Given the description of an element on the screen output the (x, y) to click on. 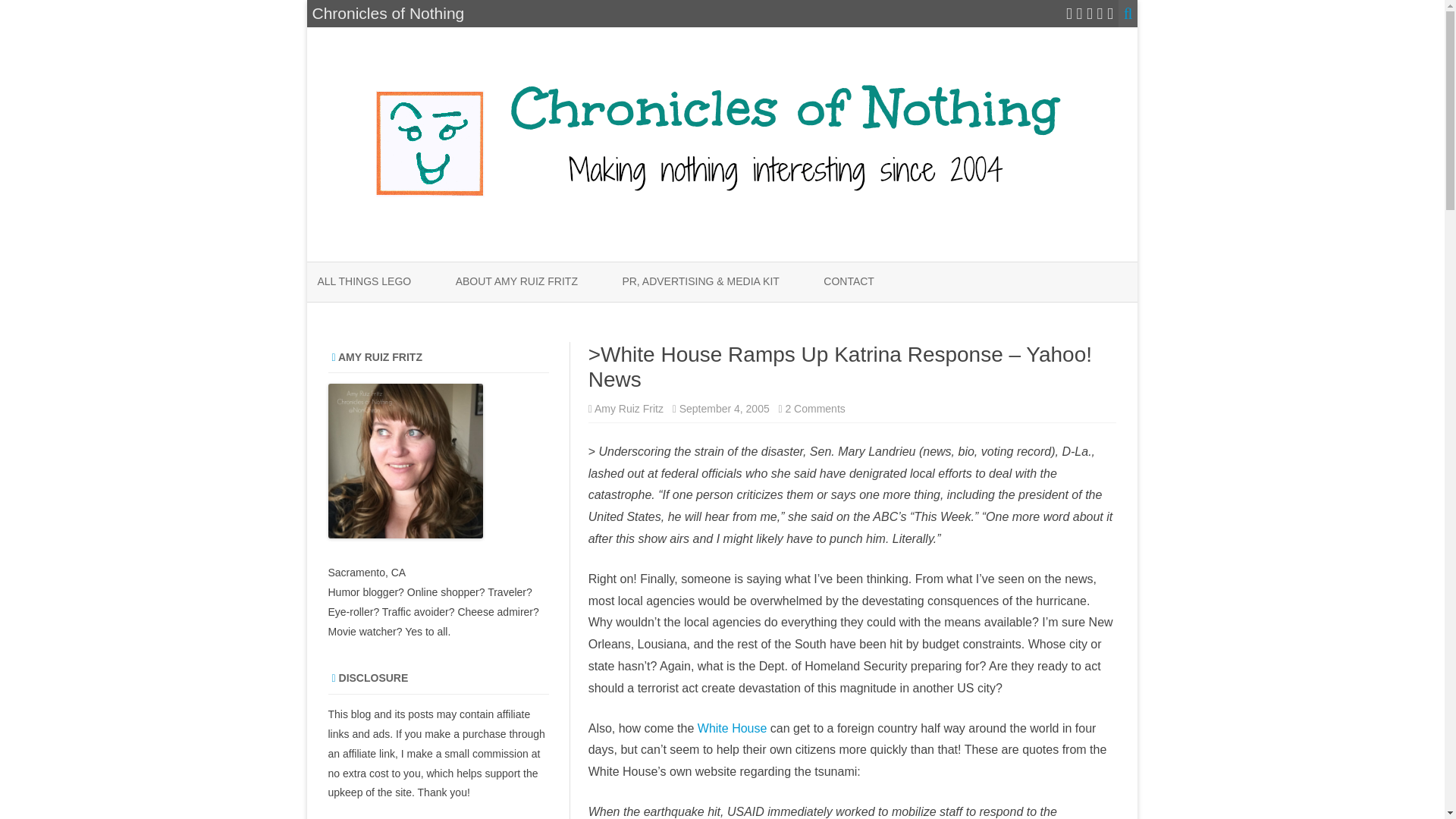
ABOUT AMY RUIZ FRITZ (516, 282)
ALL THINGS LEGO (363, 282)
Amy Ruiz Fritz (628, 408)
CONTACT (849, 282)
White House (733, 727)
